Given the description of an element on the screen output the (x, y) to click on. 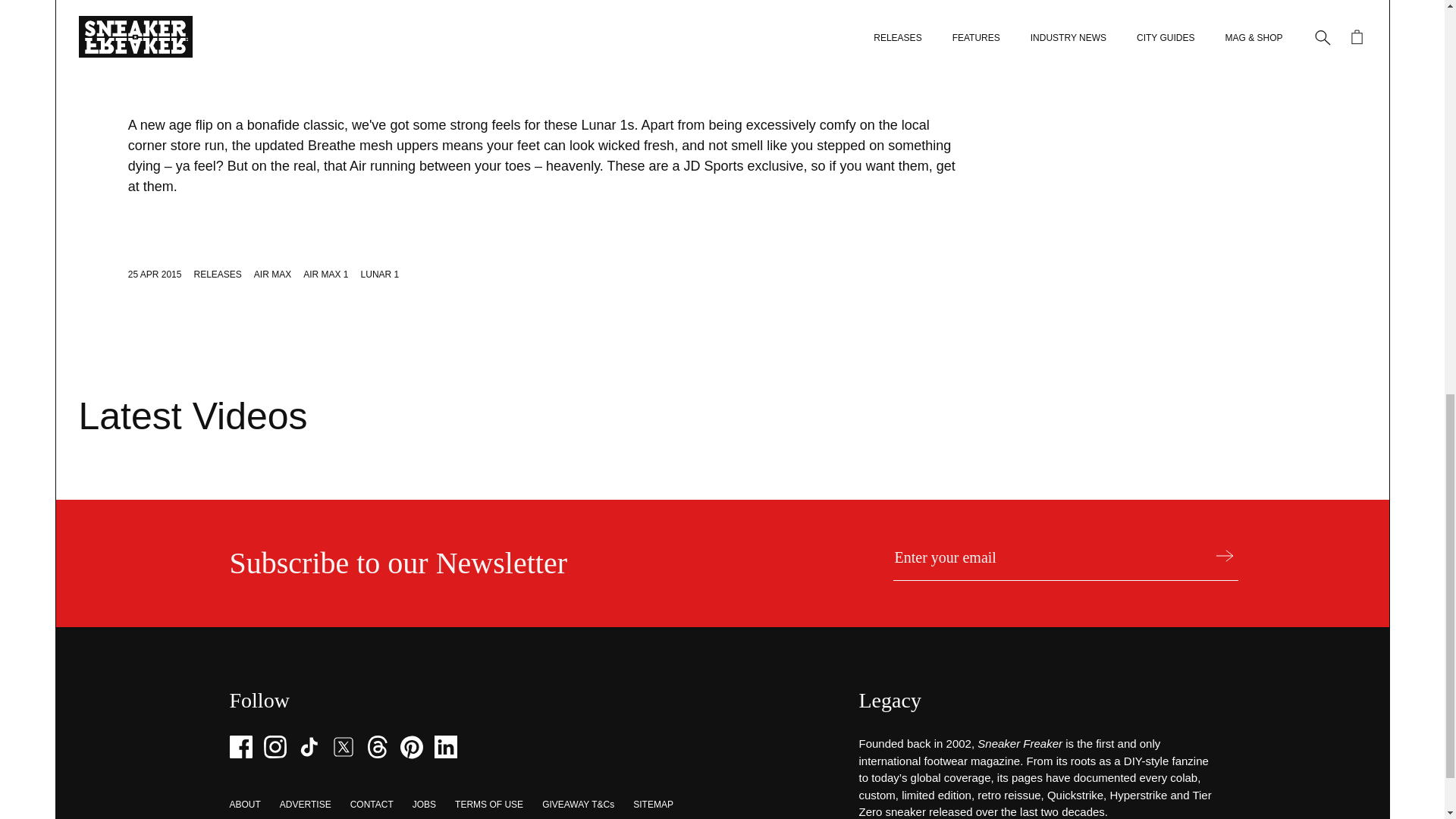
ADVERTISE (305, 804)
LUNAR 1 (379, 274)
RELEASES (217, 274)
JOBS (423, 804)
AIR MAX (272, 274)
AIR MAX 1 (324, 274)
CONTACT (371, 804)
ABOUT (244, 804)
SITEMAP (652, 804)
TERMS OF USE (488, 804)
